Given the description of an element on the screen output the (x, y) to click on. 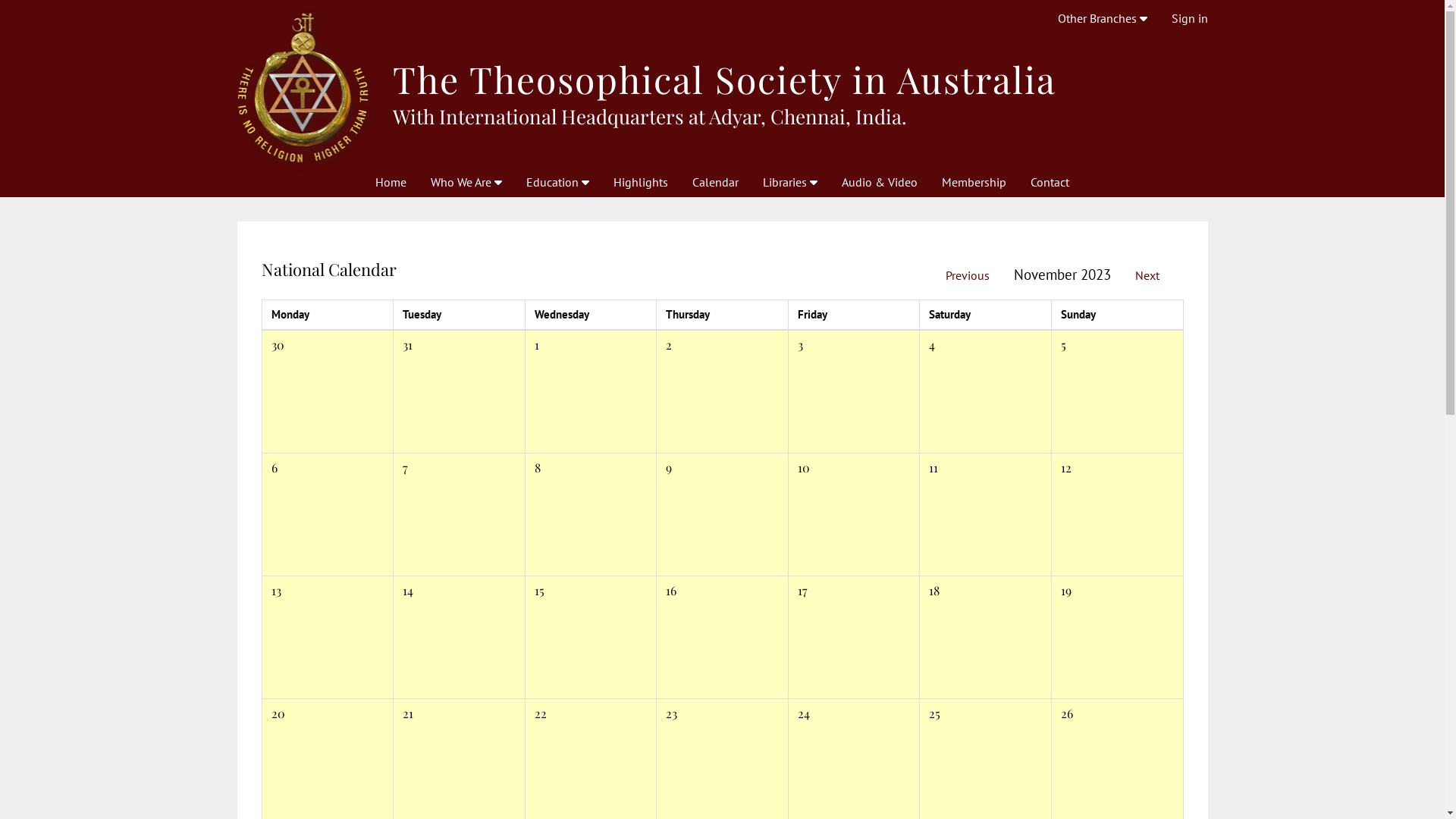
Next Element type: text (1146, 274)
Contact Element type: text (1049, 181)
Previous Element type: text (966, 274)
Sign in Element type: text (1188, 18)
Libraries Element type: text (789, 181)
Home Element type: text (390, 181)
Highlights Element type: text (640, 181)
Who We Are Element type: text (466, 181)
Audio & Video Element type: text (879, 181)
Calendar Element type: text (715, 181)
Education Element type: text (557, 181)
Other Branches Element type: text (1101, 18)
Membership Element type: text (973, 181)
